Given the description of an element on the screen output the (x, y) to click on. 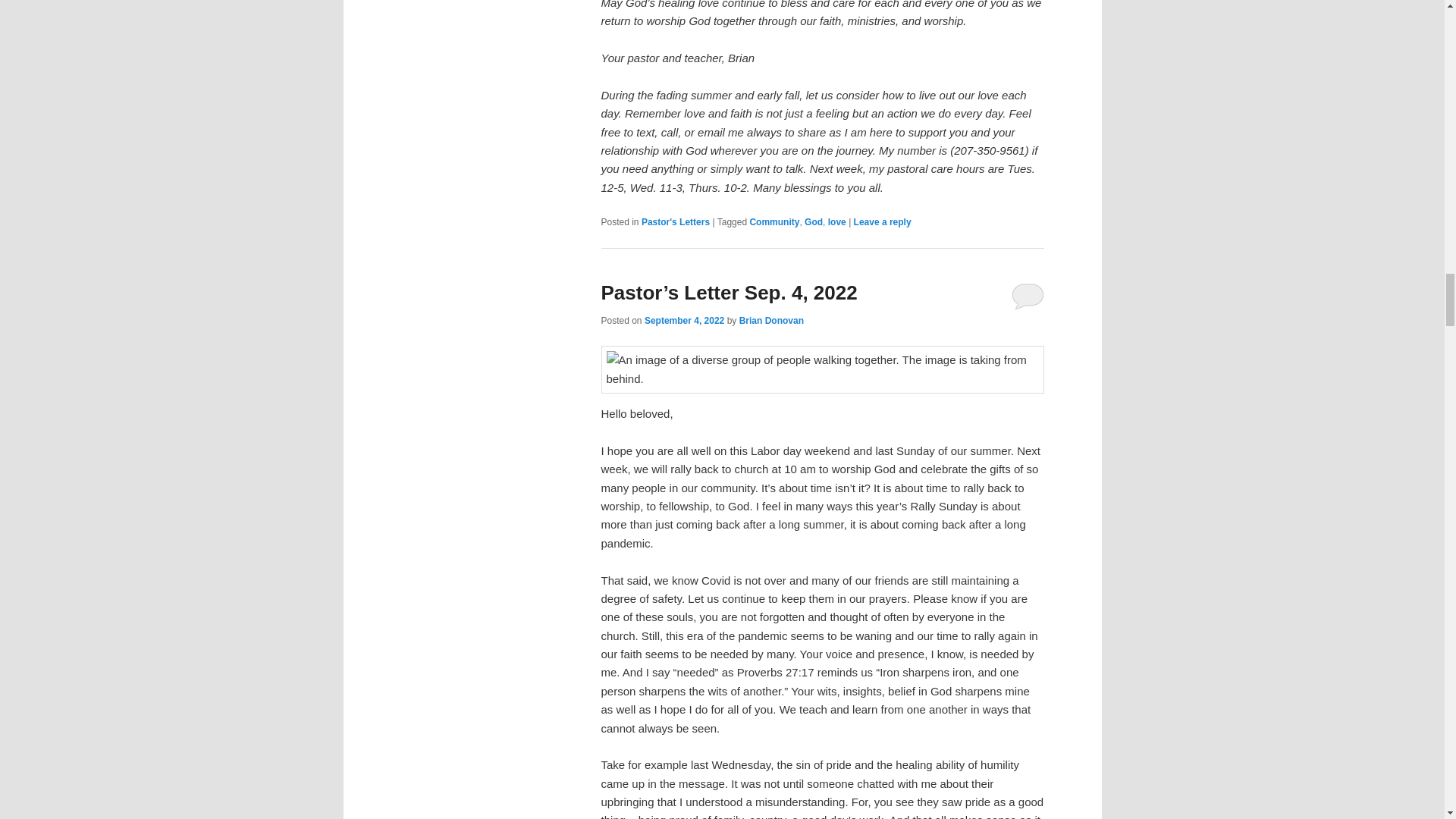
View all posts by Brian Donovan (771, 320)
9:00 am (684, 320)
